Given the description of an element on the screen output the (x, y) to click on. 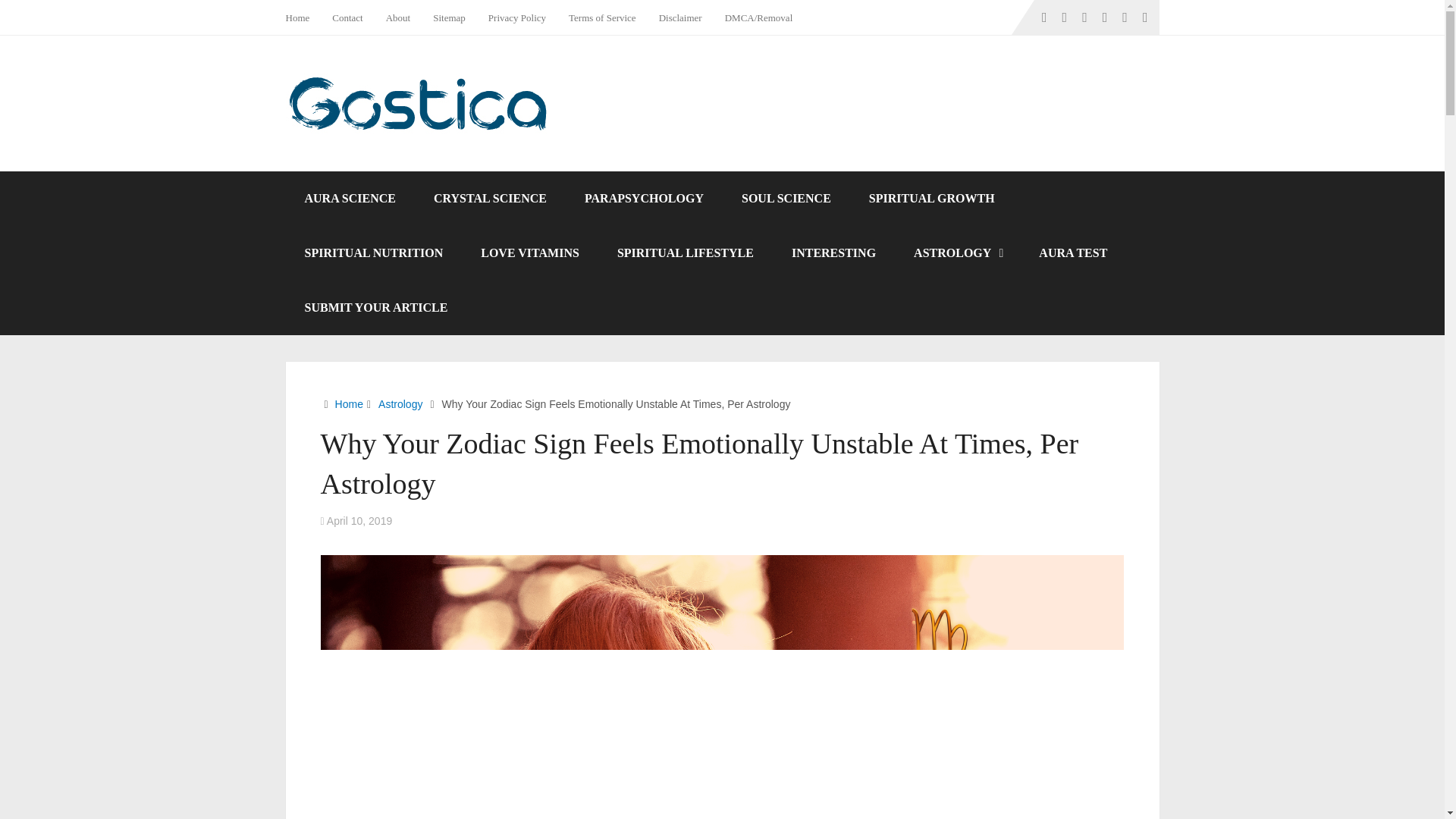
SOUL SCIENCE (786, 198)
AURA SCIENCE (349, 198)
About (398, 17)
Privacy Policy (517, 17)
Disclaimer (680, 17)
SPIRITUAL GROWTH (931, 198)
PARAPSYCHOLOGY (644, 198)
Contact (347, 17)
ASTROLOGY (957, 253)
CRYSTAL SCIENCE (490, 198)
